Given the description of an element on the screen output the (x, y) to click on. 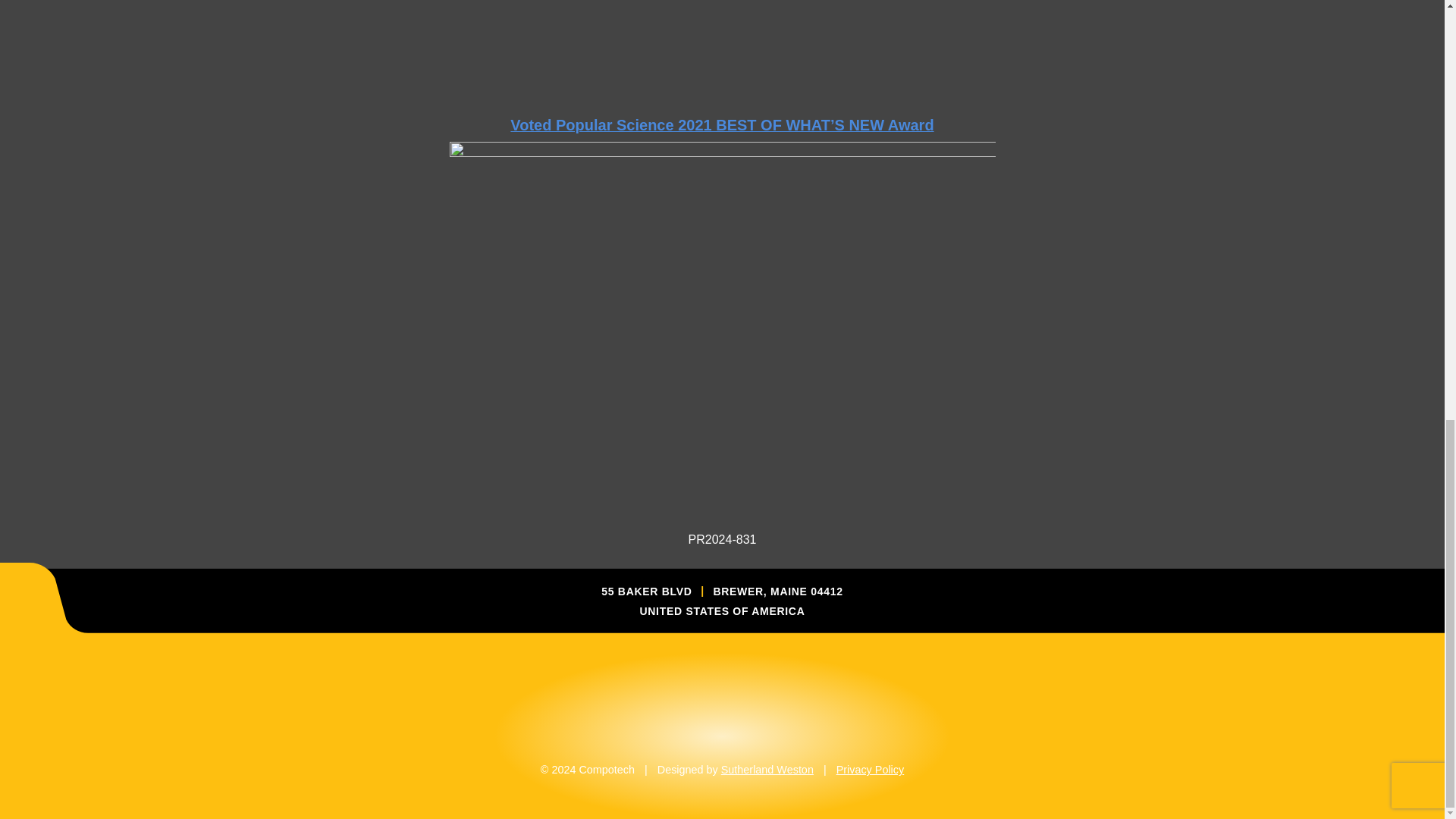
FRAG-CT (721, 33)
Privacy Policy (869, 769)
Sutherland Weston (766, 769)
